Given the description of an element on the screen output the (x, y) to click on. 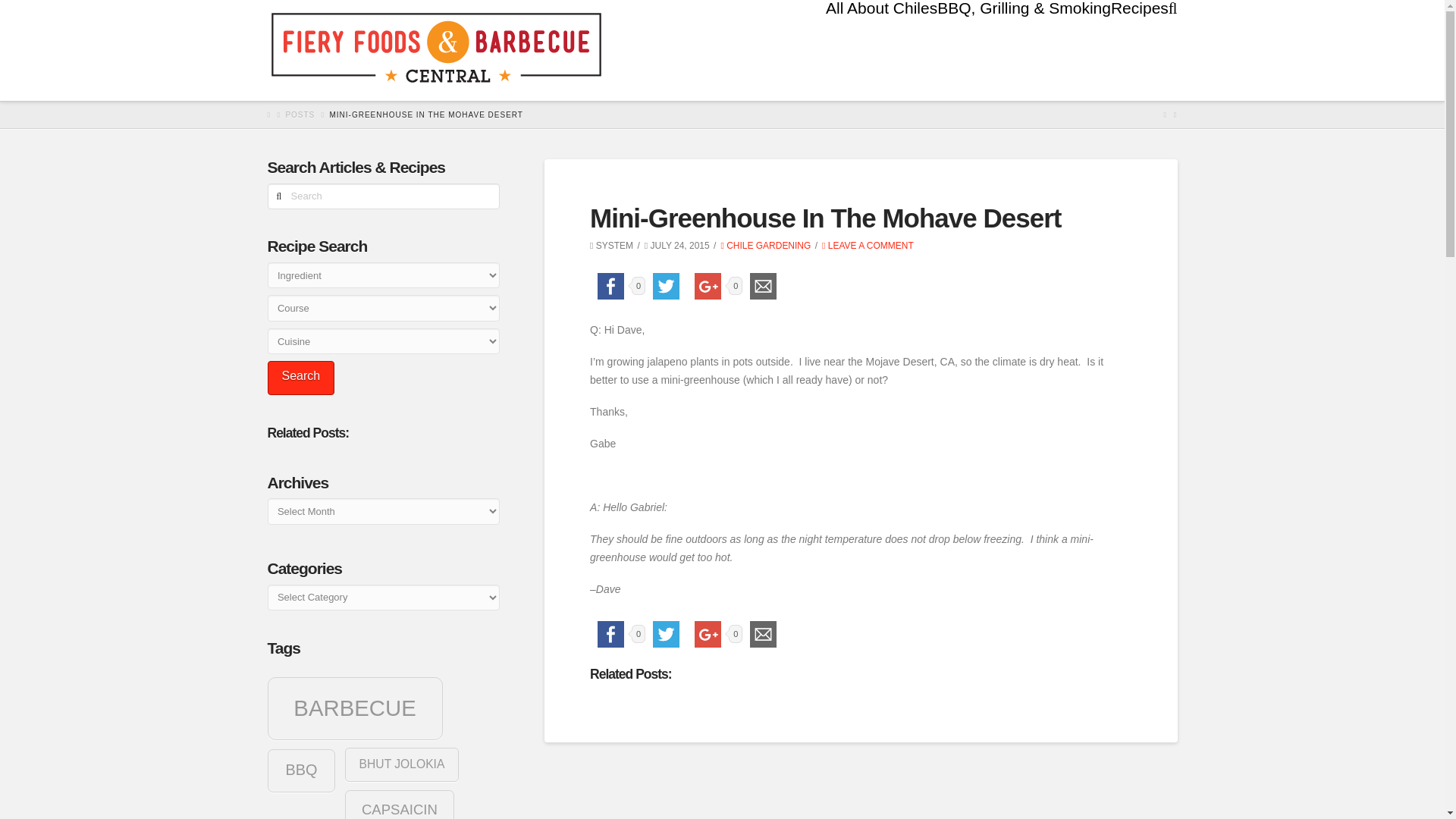
Twitter (666, 286)
LEAVE A COMMENT (868, 245)
All About Chiles (881, 33)
Facebook (610, 286)
CHILE GARDENING (765, 245)
Facebook (610, 634)
POSTS (299, 114)
Email (763, 286)
Twitter (666, 634)
Recipes (1139, 33)
Search (300, 377)
Email (763, 634)
